Given the description of an element on the screen output the (x, y) to click on. 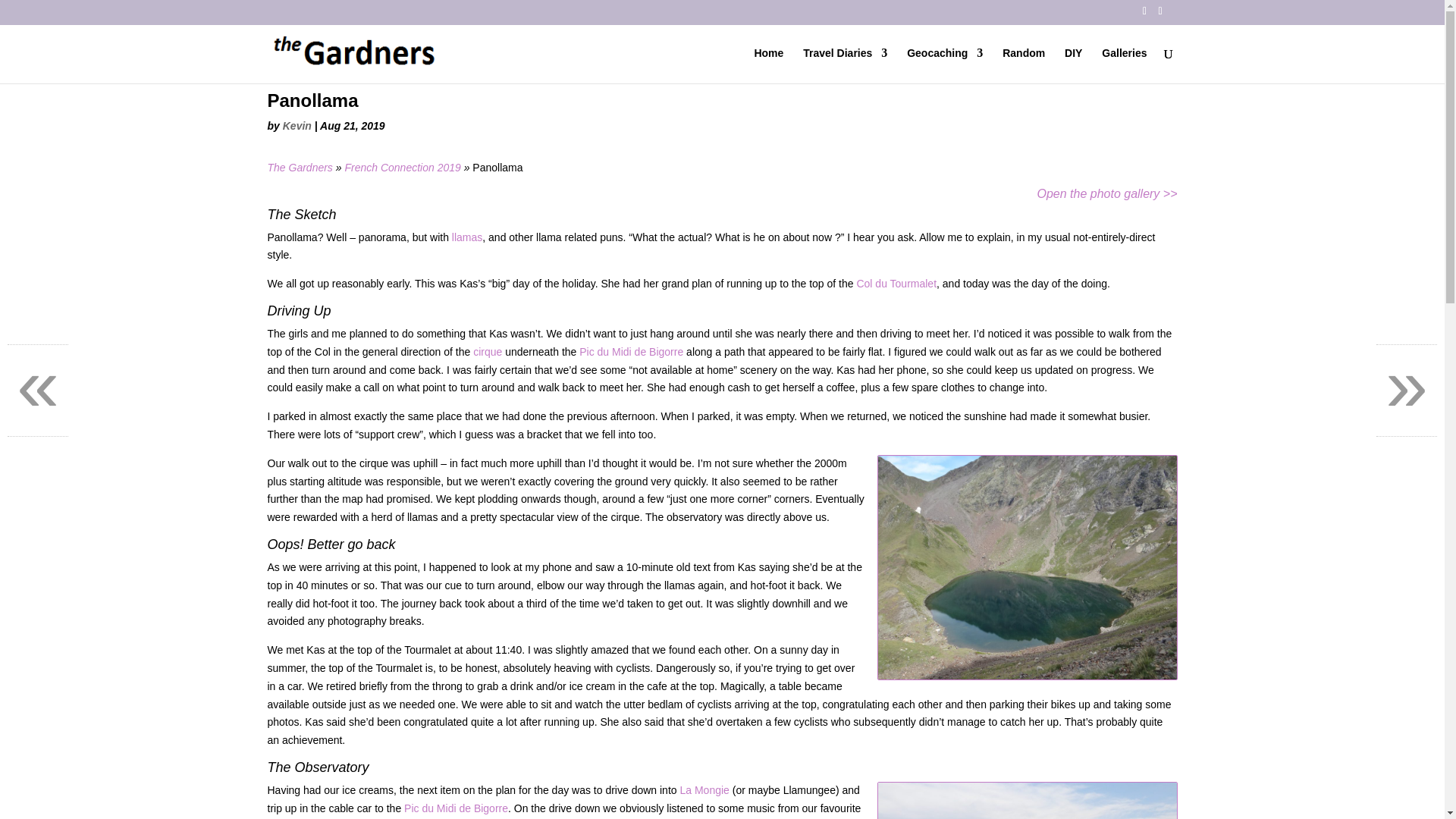
French Connection 2019 (401, 167)
Geocaching (944, 65)
Random (1024, 65)
cirque (487, 351)
Posts by Kevin (296, 125)
La Mongie (704, 789)
Col du Tourmalet (896, 283)
Galleries (1124, 65)
The Gardners (298, 167)
llamas (466, 236)
